Given the description of an element on the screen output the (x, y) to click on. 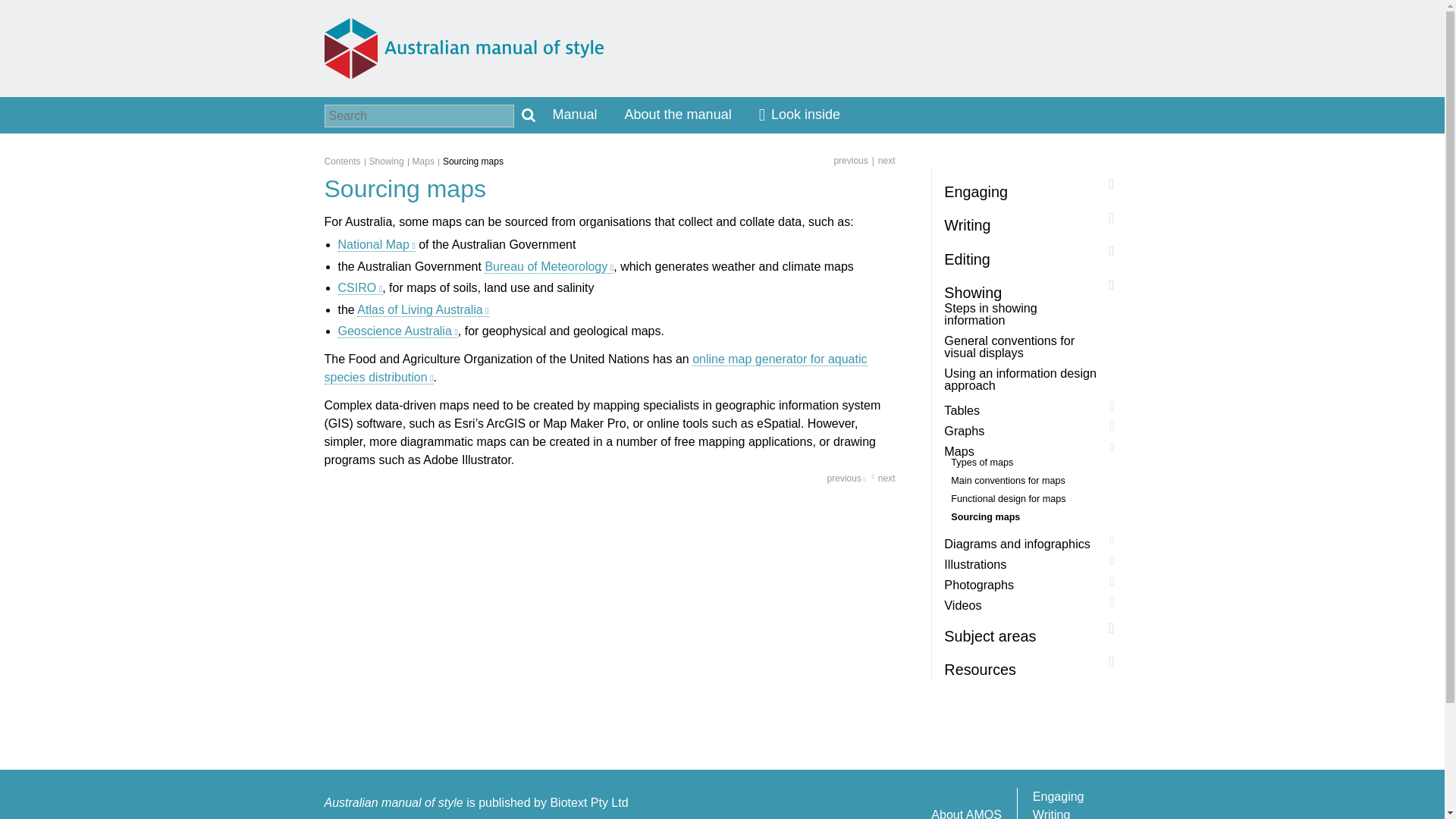
Search (527, 115)
CSIRO (359, 287)
Go to next page (880, 478)
Atlas of Living Australia (421, 309)
Showing (390, 161)
previous (849, 160)
Go to previous page (849, 160)
Look inside (799, 115)
Go to previous page (846, 478)
next (881, 160)
